Given the description of an element on the screen output the (x, y) to click on. 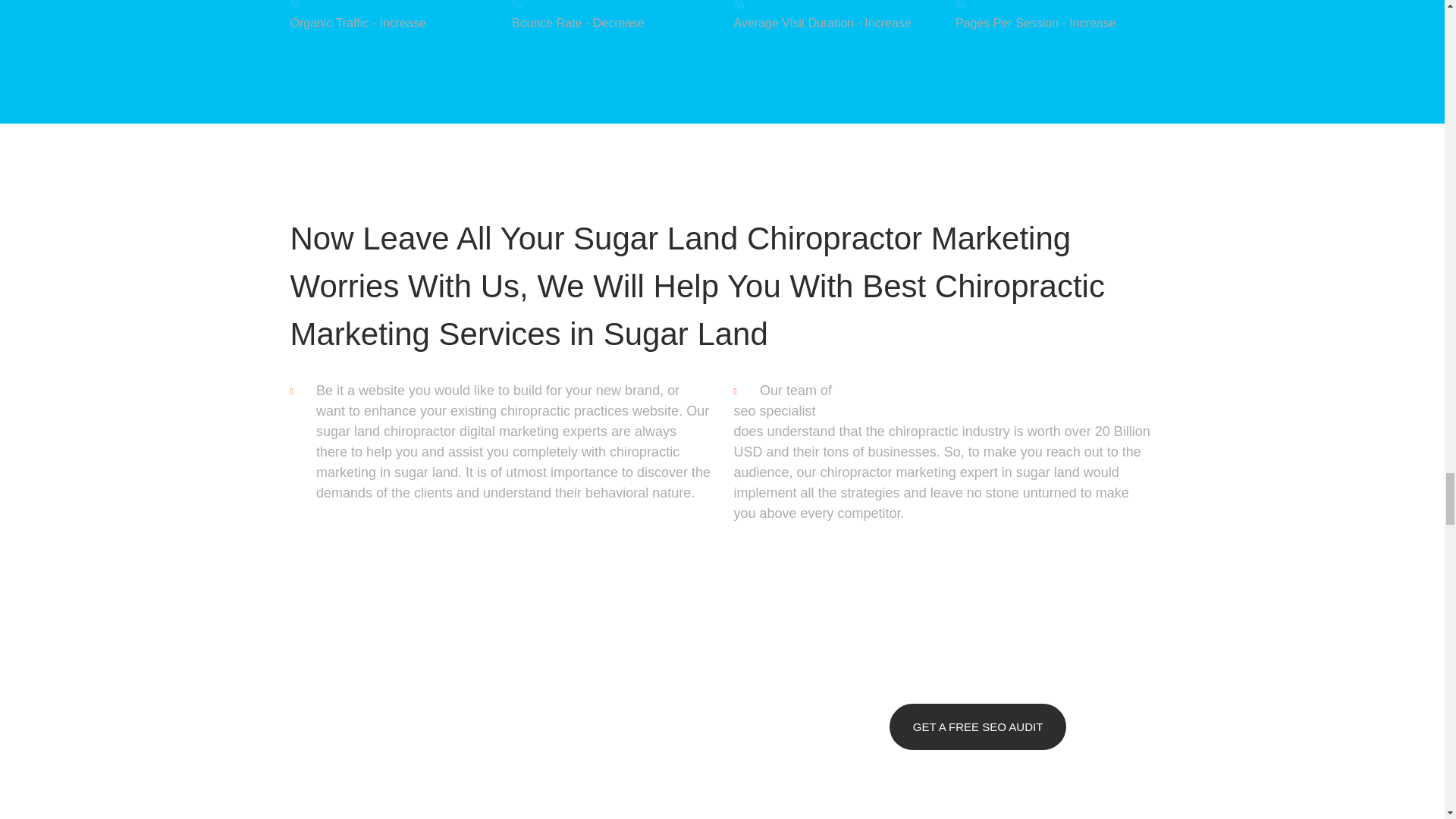
Our team of (957, 390)
